Given the description of an element on the screen output the (x, y) to click on. 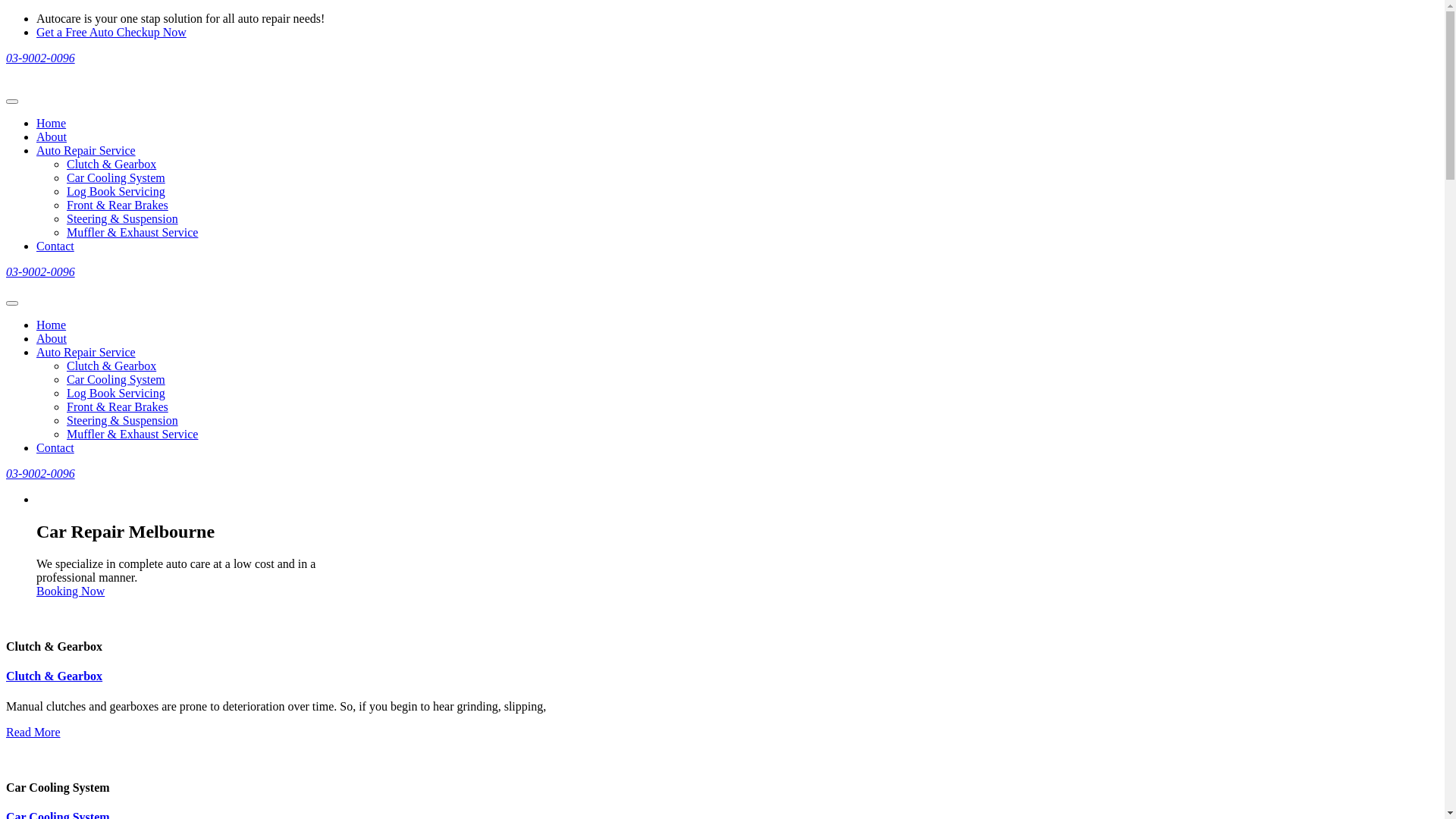
Muffler & Exhaust Service Element type: text (131, 231)
Car Cooling System Element type: text (115, 177)
Front & Rear Brakes Element type: text (117, 406)
Read More Element type: text (33, 731)
Clutch & Gearbox Element type: text (111, 365)
Auto Repair Service Element type: text (85, 150)
Home Element type: text (50, 324)
03-9002-0096 Element type: text (40, 473)
About Element type: text (51, 338)
Booking Now Element type: text (70, 590)
03-9002-0096 Element type: text (40, 57)
Clutch & Gearbox Element type: text (54, 675)
Front & Rear Brakes Element type: text (117, 204)
Contact Element type: text (55, 245)
Get a Free Auto Checkup Now Element type: text (111, 31)
Steering & Suspension Element type: text (122, 218)
Contact Element type: text (55, 447)
Muffler & Exhaust Service Element type: text (131, 433)
Home Element type: text (50, 122)
Clutch & Gearbox Element type: text (111, 163)
Log Book Servicing Element type: text (115, 191)
Car Cooling System Element type: text (115, 379)
Steering & Suspension Element type: text (122, 420)
Log Book Servicing Element type: text (115, 392)
Auto Repair Service Element type: text (85, 351)
About Element type: text (51, 136)
03-9002-0096 Element type: text (40, 271)
